Given the description of an element on the screen output the (x, y) to click on. 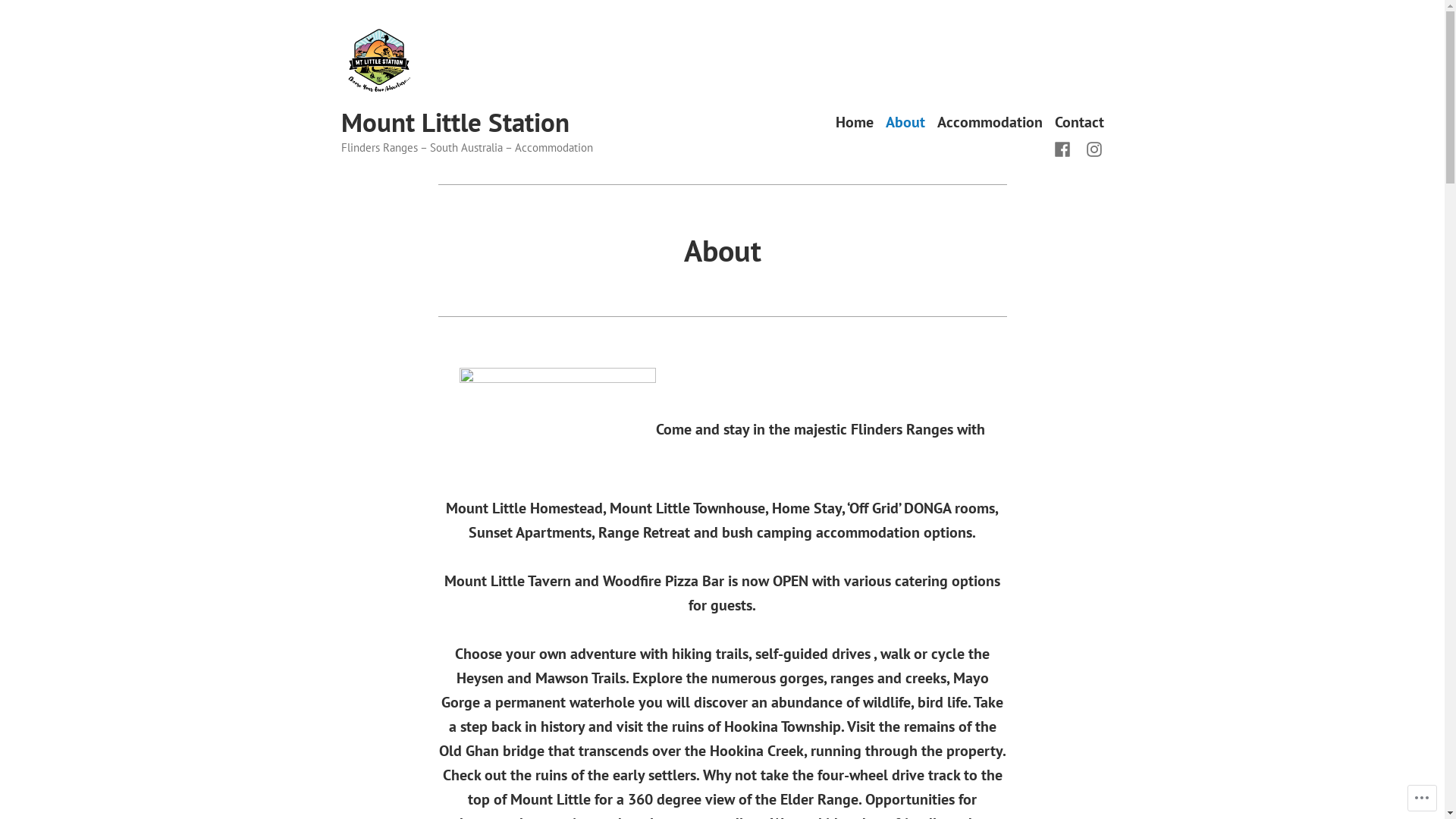
Accommodation Element type: text (989, 122)
Mount Little Station Element type: text (455, 121)
Contact Element type: text (1078, 122)
Home Element type: text (854, 122)
About Element type: text (905, 122)
